Given the description of an element on the screen output the (x, y) to click on. 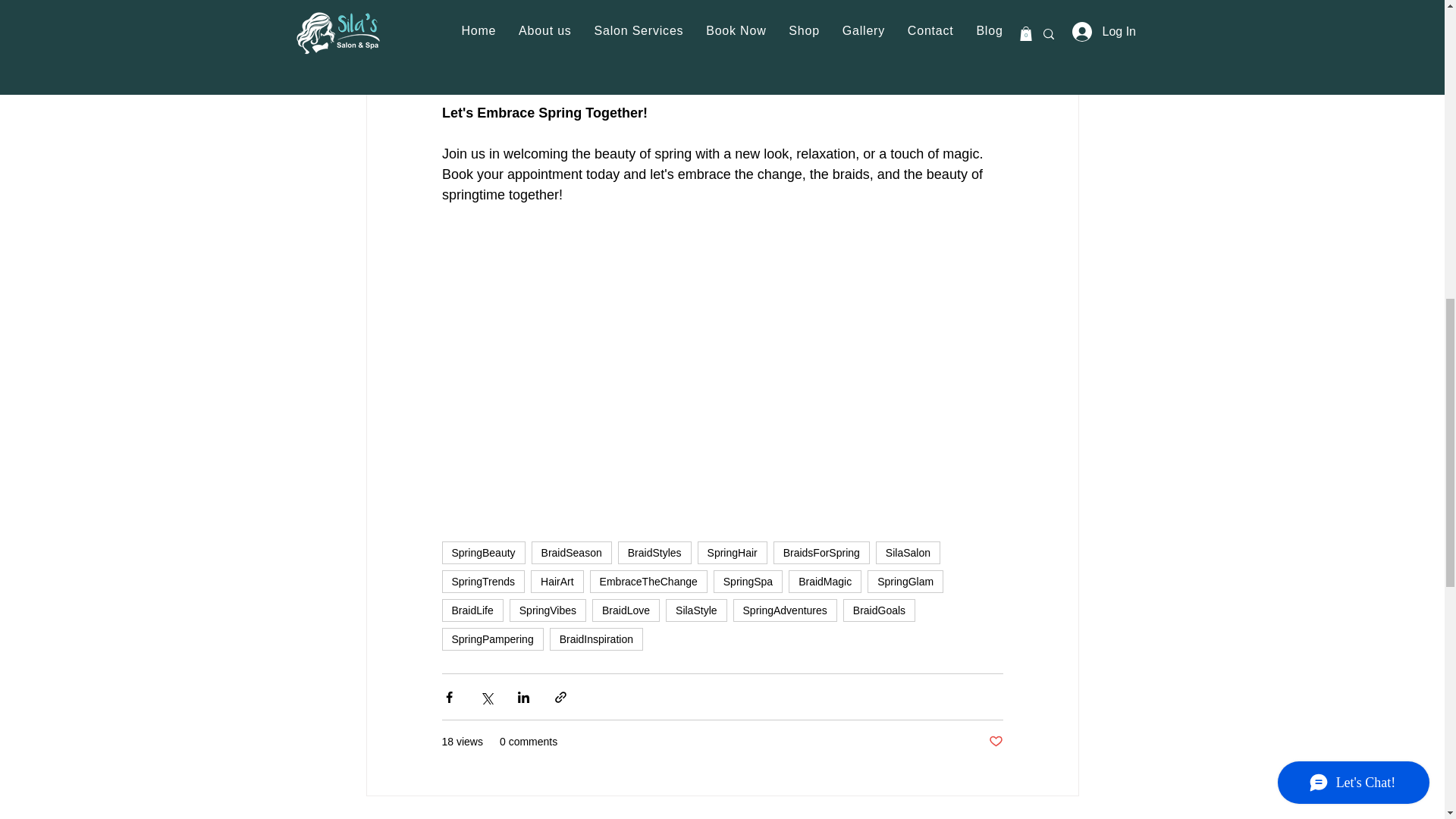
SpringSpa (748, 581)
SilaStyle (695, 609)
BraidMagic (825, 581)
SpringAdventures (785, 609)
BraidGoals (879, 609)
SpringBeauty (482, 552)
SpringGlam (905, 581)
SpringVibes (547, 609)
EmbraceTheChange (648, 581)
HairArt (557, 581)
SpringHair (732, 552)
BraidsForSpring (821, 552)
BraidInspiration (596, 639)
SilaSalon (908, 552)
SpringPampering (492, 639)
